Given the description of an element on the screen output the (x, y) to click on. 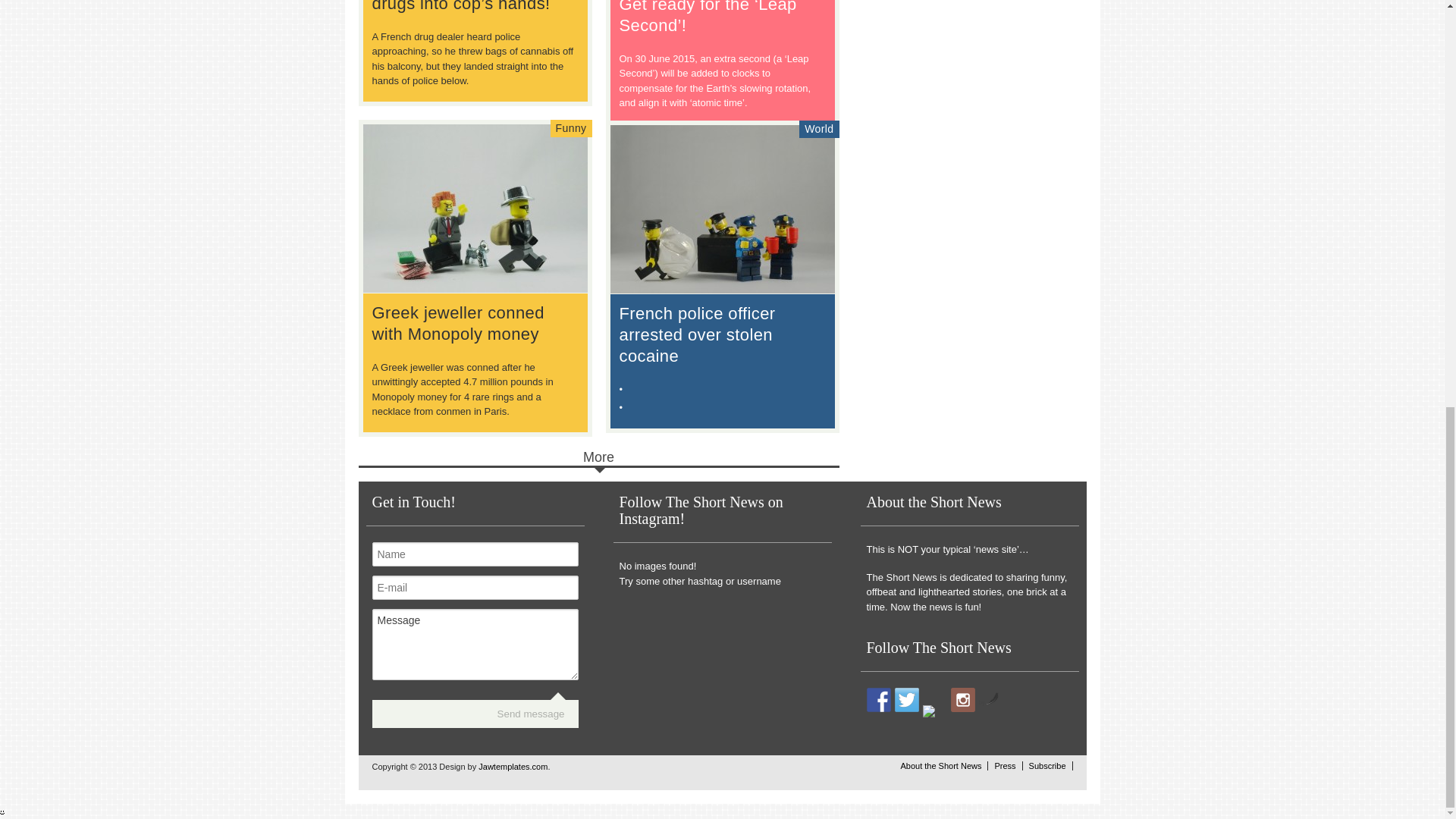
Follow us on Facebook (877, 699)
Check out our instagram feed (962, 699)
WordPress Social Media Feather (988, 702)
Send message (531, 713)
Follow us on Twitter (906, 699)
